Given the description of an element on the screen output the (x, y) to click on. 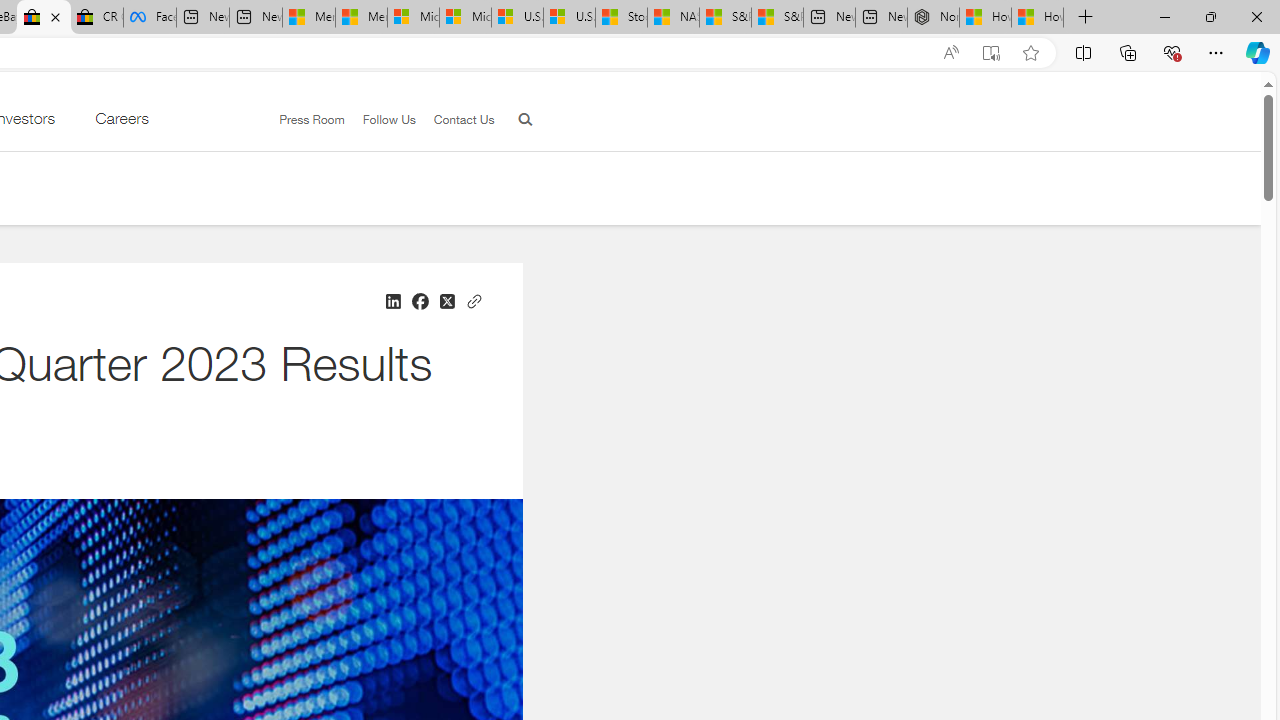
Share on X (Twitter) (446, 301)
Share on Facebook (419, 301)
Careers (121, 123)
Facebook (150, 17)
Follow Us (380, 120)
